Given the description of an element on the screen output the (x, y) to click on. 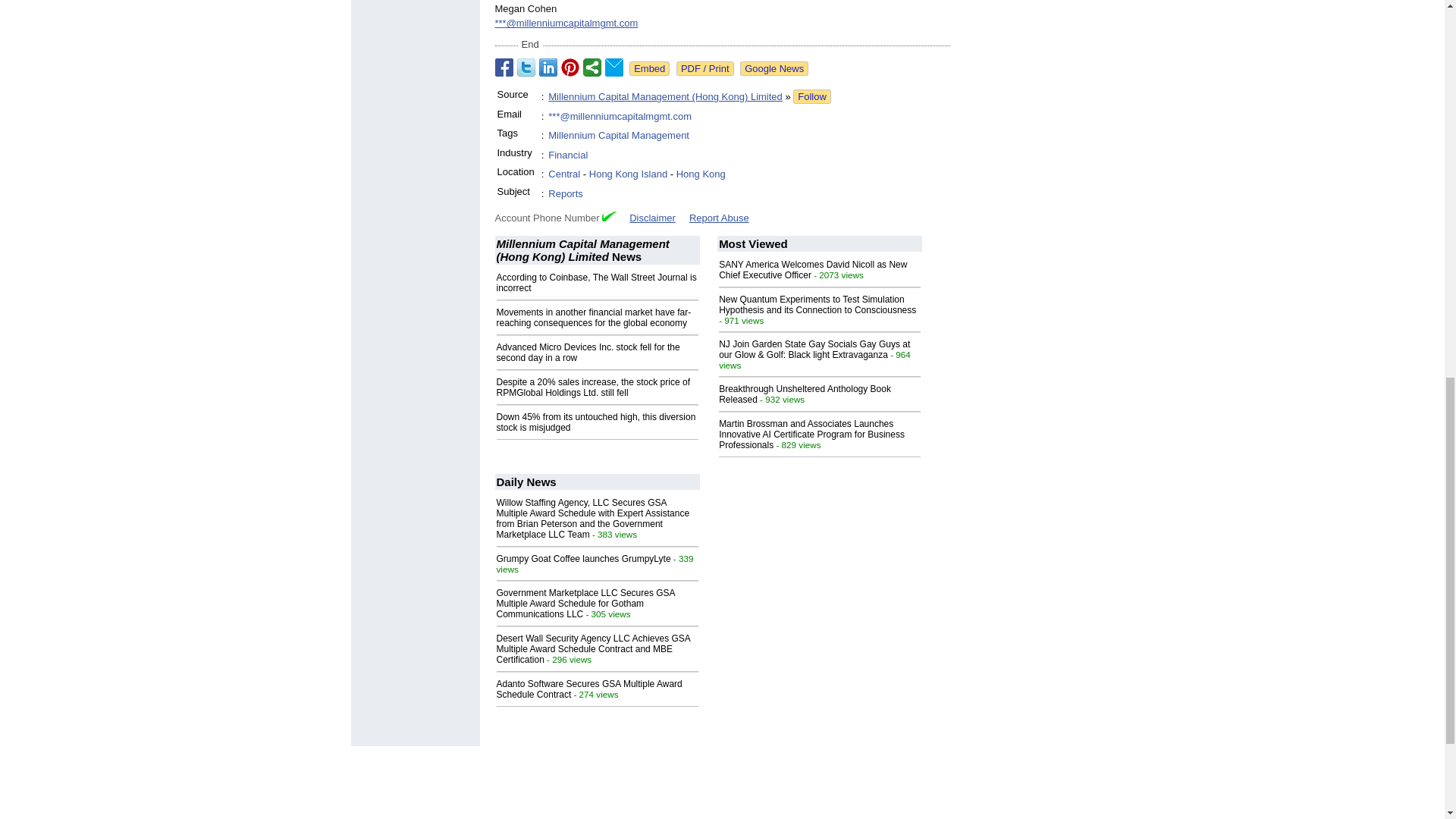
See or print the PDF version! (705, 68)
Embed this press release in your website! (648, 68)
Share on StumbleUpon, Digg, etc (590, 67)
Share on Twitter (525, 67)
Verified (608, 216)
Share on Facebook (503, 67)
Email to a Friend (614, 67)
Embed (648, 68)
Share on LinkedIn (547, 67)
Share on Pinterest (569, 67)
